Given the description of an element on the screen output the (x, y) to click on. 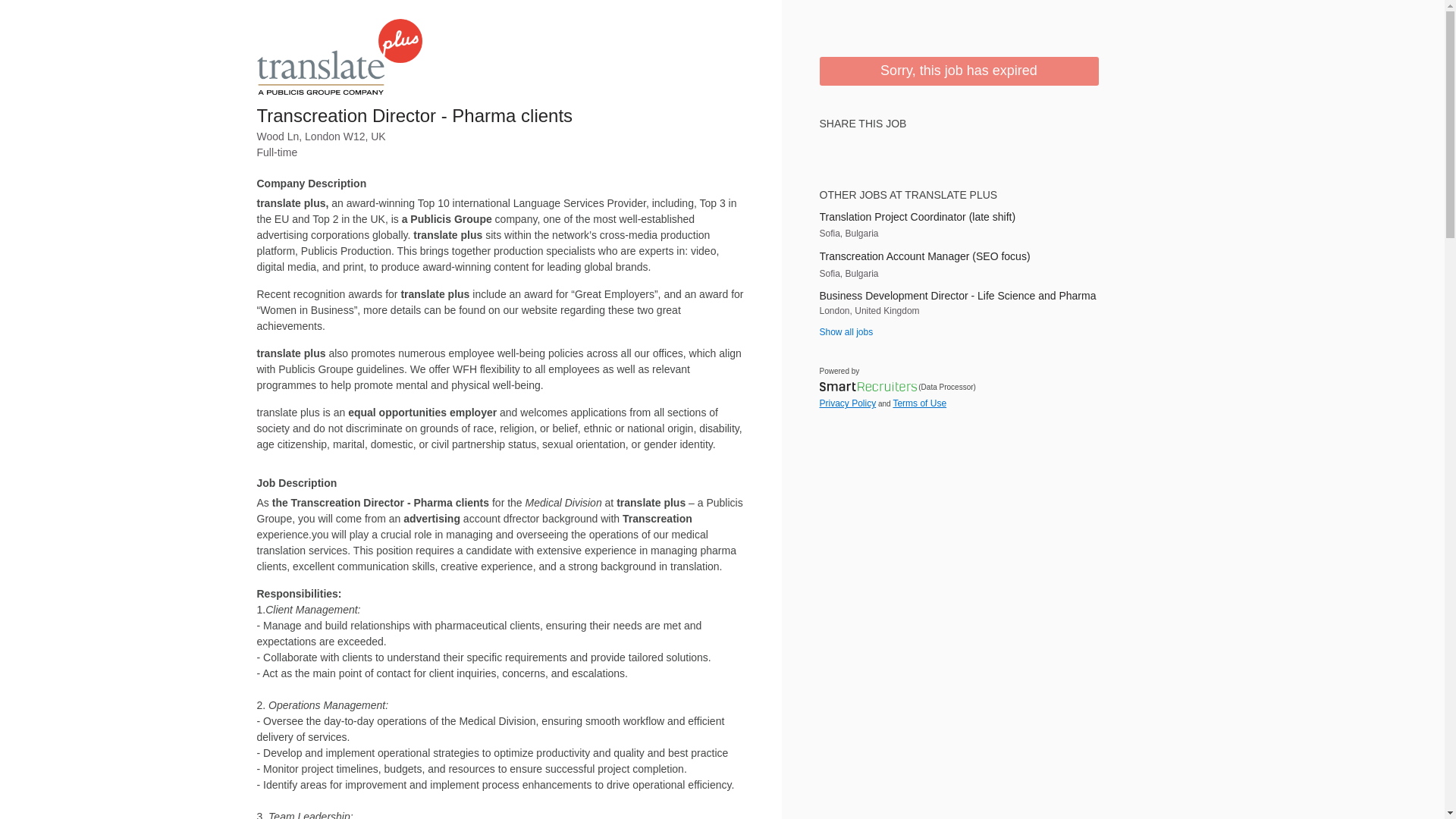
Terms of Use (919, 403)
Sorry, this job has expired (957, 70)
Show all jobs (845, 331)
SmartRecruiters (866, 386)
Business Development Director - Life Science and Pharma (957, 295)
Business Development Director - Life Science and Pharma (957, 295)
Privacy Policy (847, 403)
